Given the description of an element on the screen output the (x, y) to click on. 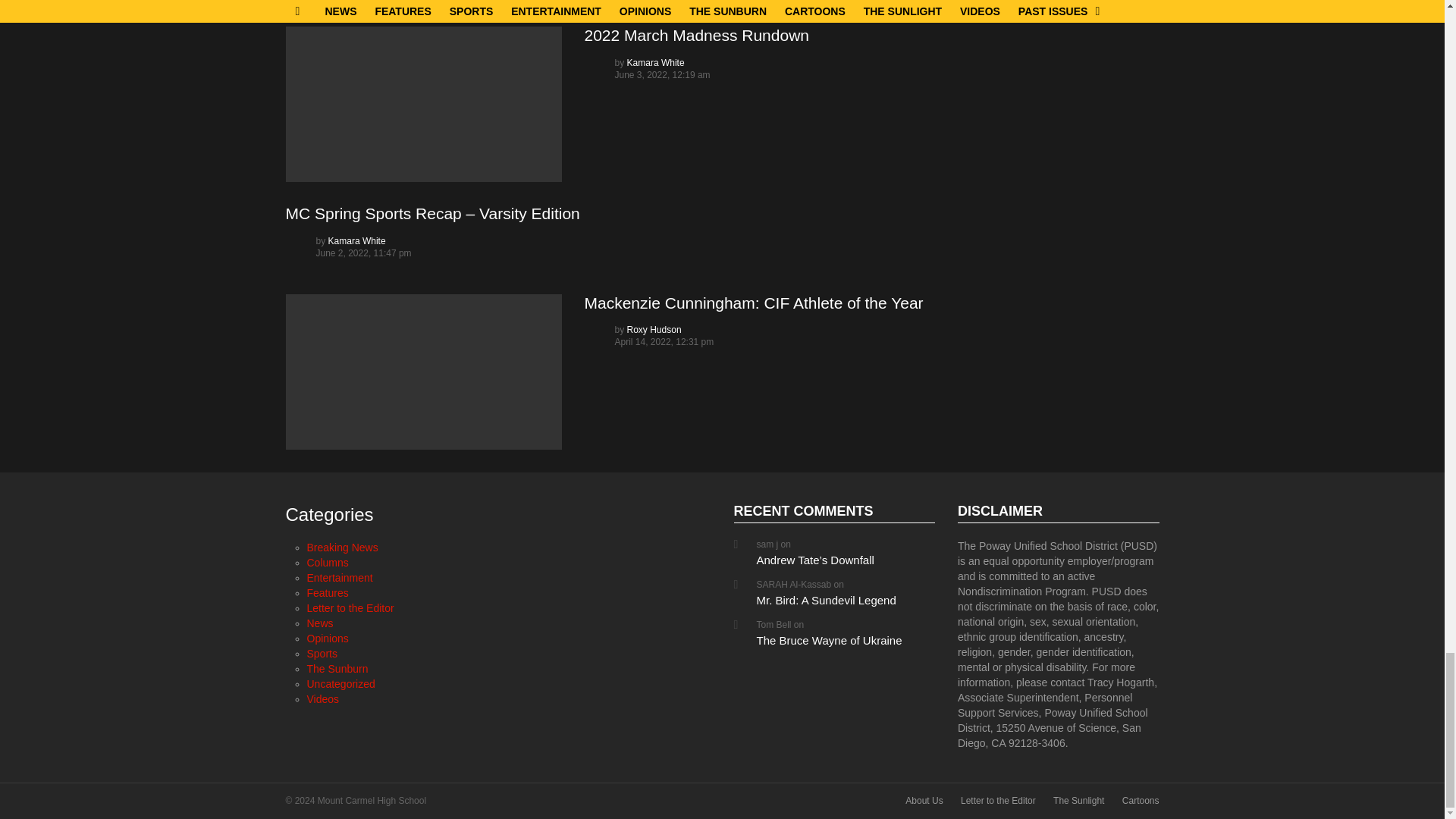
Sabrina Oakley Scores 1000th Point (422, 2)
